Given the description of an element on the screen output the (x, y) to click on. 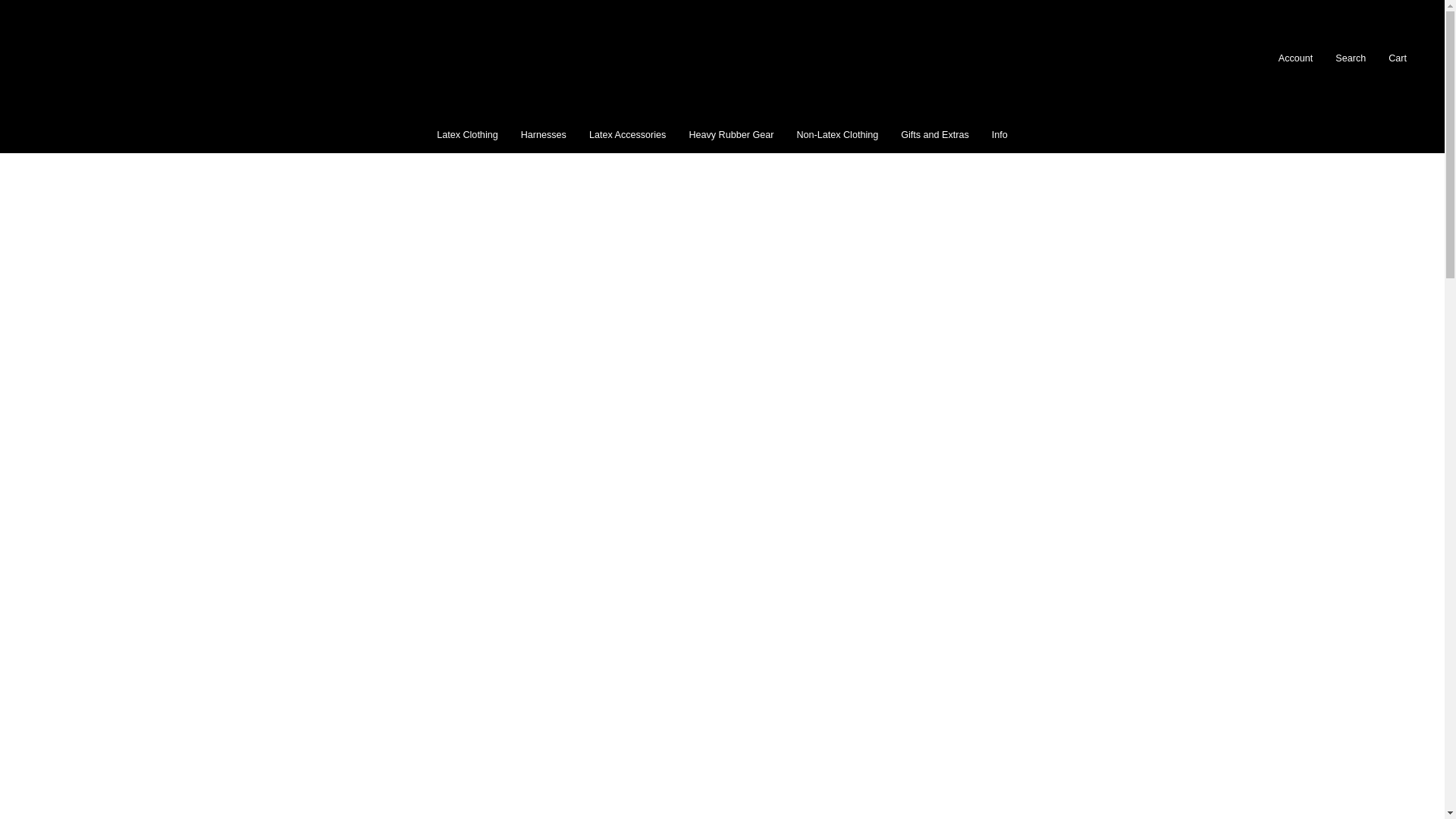
Harnesses (543, 134)
Latex Accessories (628, 134)
Latex Clothing (467, 134)
